Given the description of an element on the screen output the (x, y) to click on. 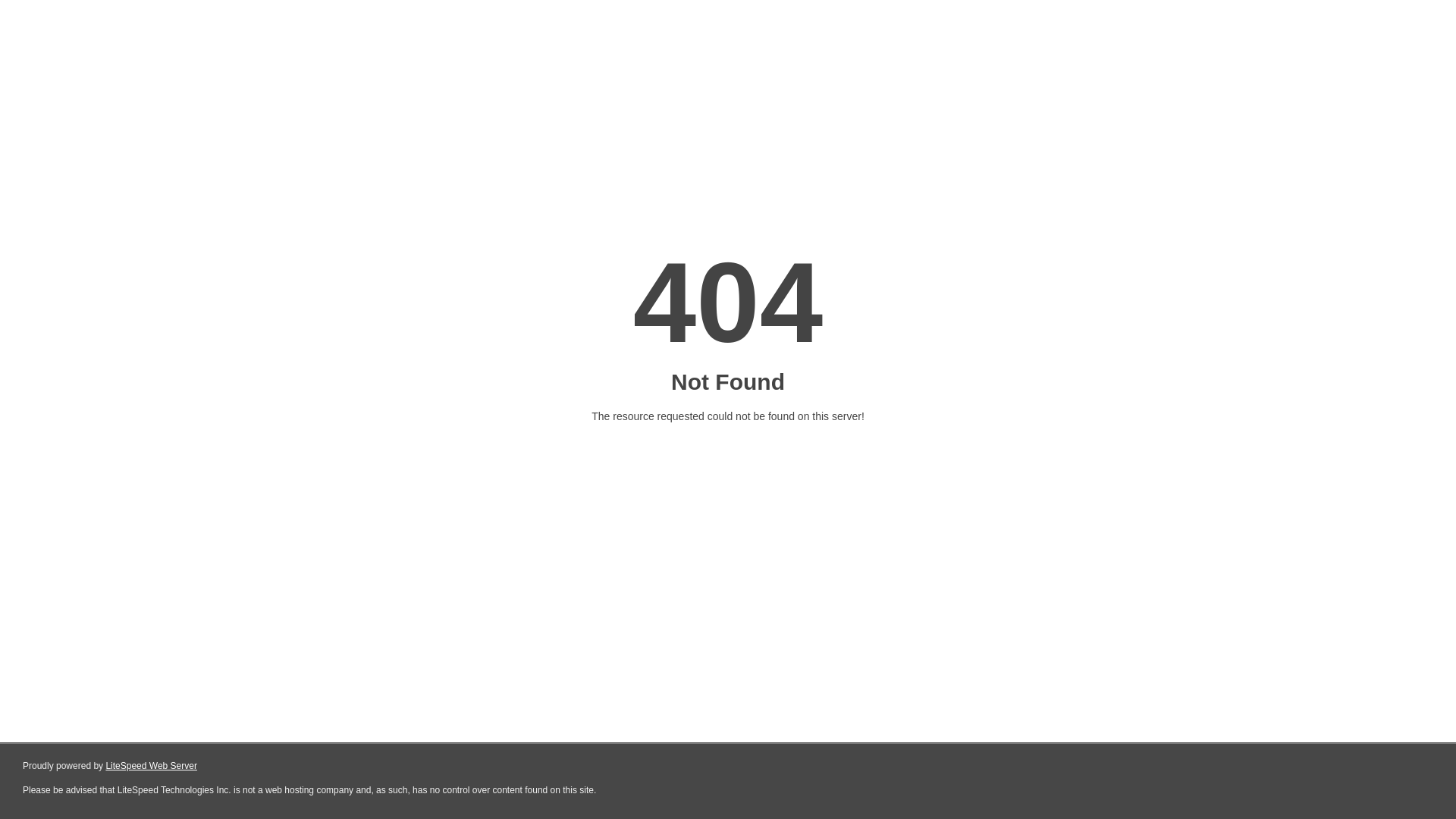
LiteSpeed Web Server Element type: text (151, 765)
